Given the description of an element on the screen output the (x, y) to click on. 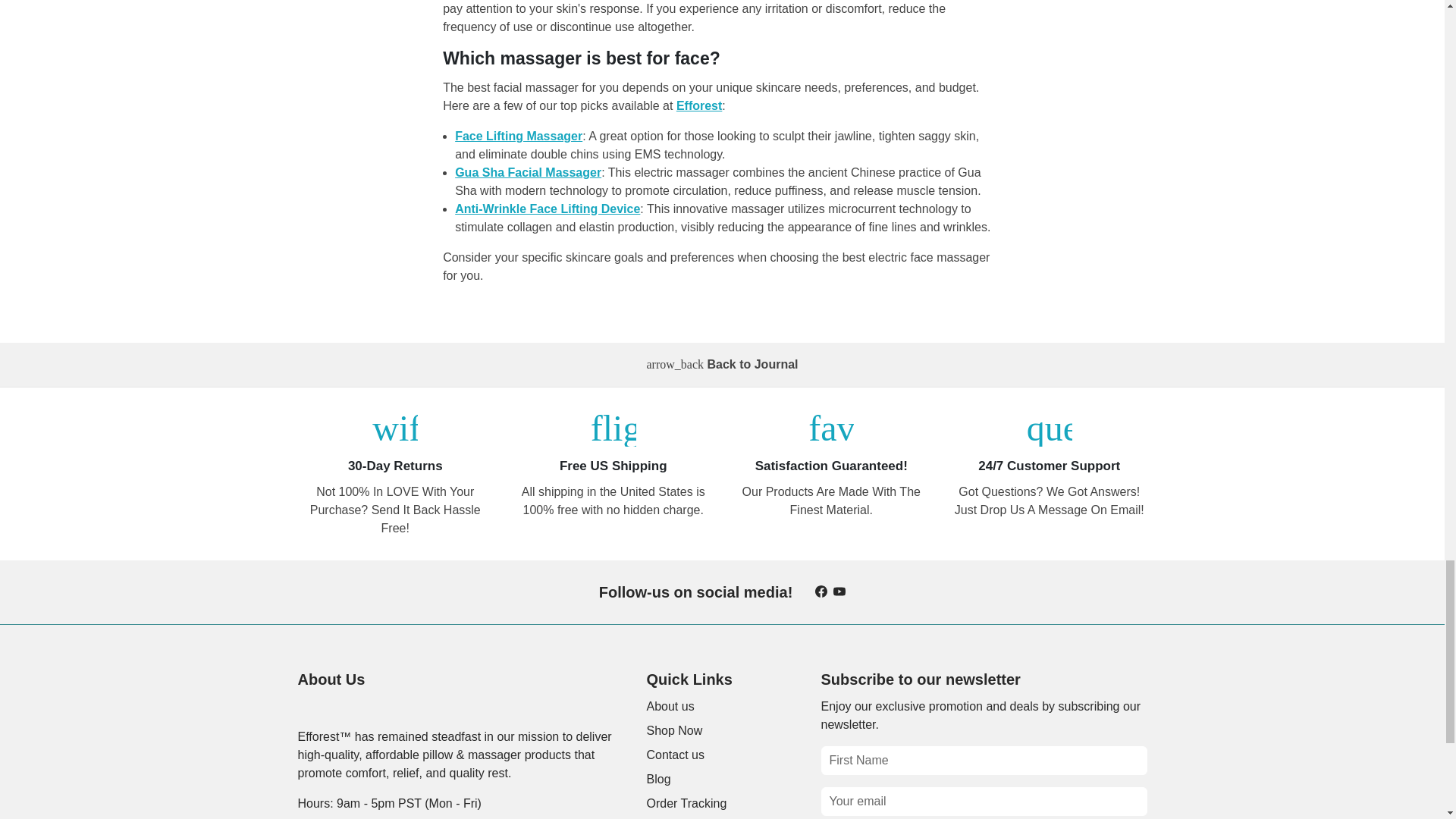
EFFOREST on Youtube (838, 591)
EFFOREST on Facebook (821, 591)
